Given the description of an element on the screen output the (x, y) to click on. 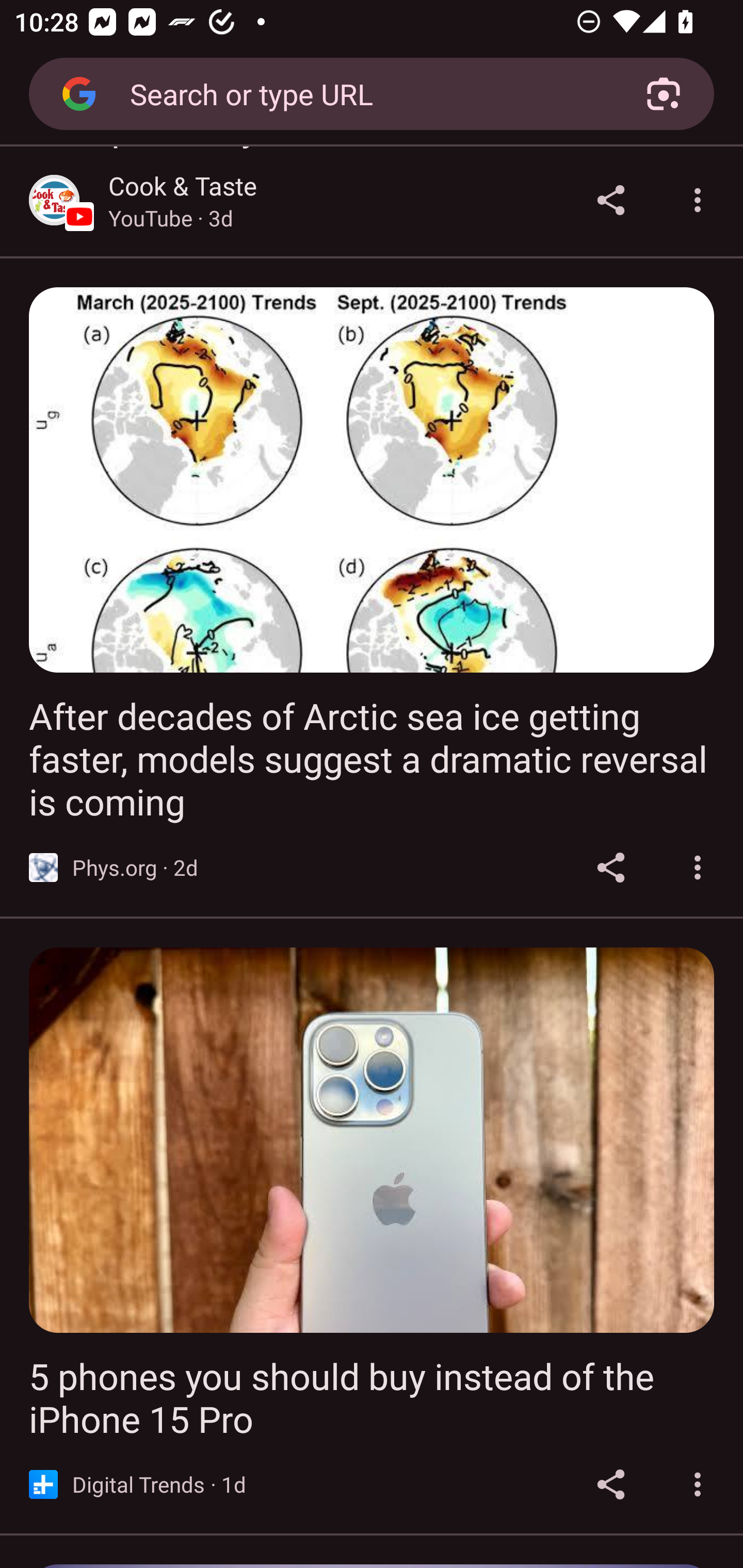
Search with your camera using Google Lens (663, 93)
Search or type URL (364, 92)
